Given the description of an element on the screen output the (x, y) to click on. 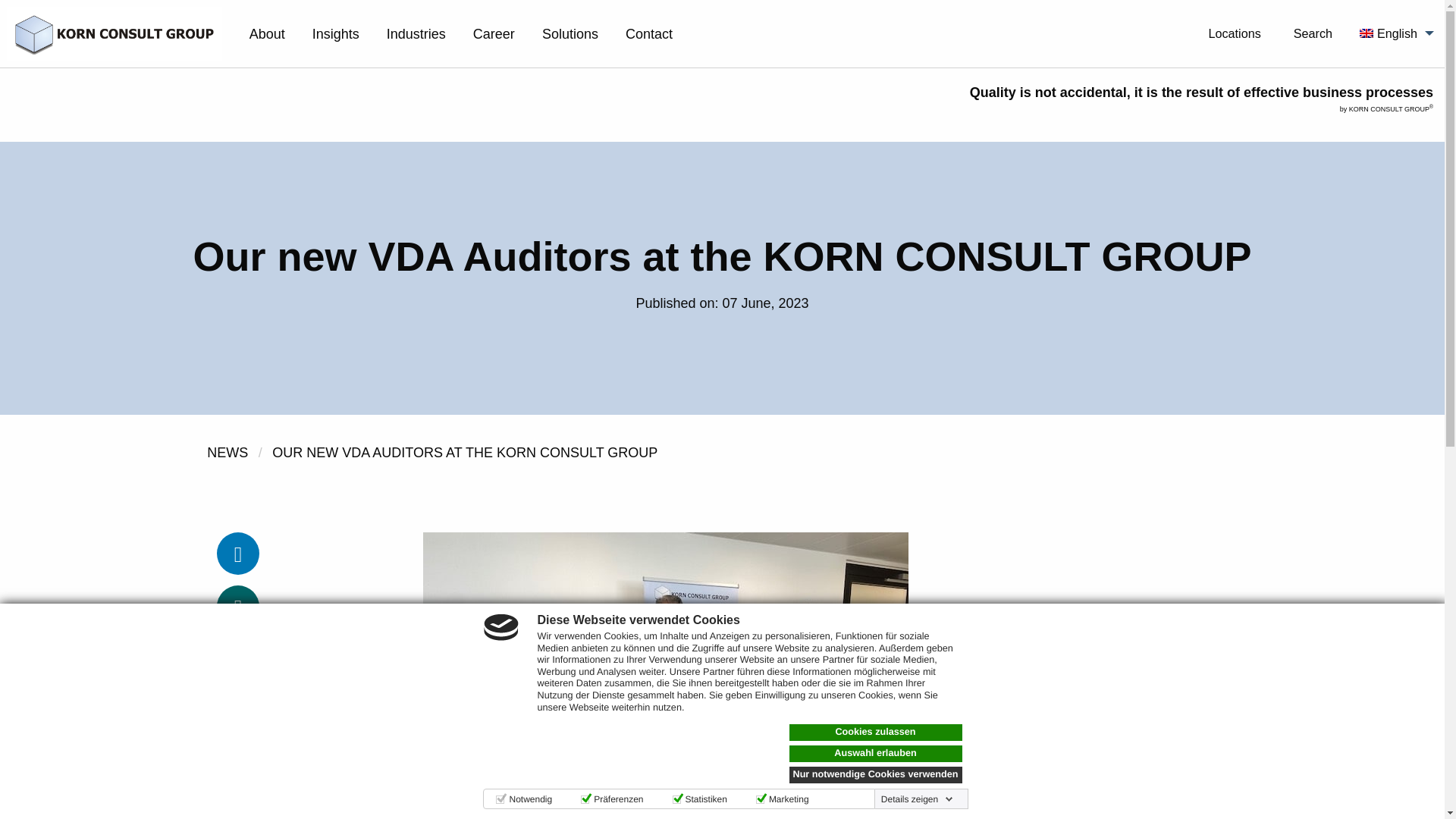
About (266, 33)
Details zeigen (916, 799)
Solutions (569, 33)
Search (1310, 27)
Auswahl erlauben (874, 753)
English (1391, 33)
Locations (1231, 27)
Industries (416, 33)
Insights (335, 33)
